Given the description of an element on the screen output the (x, y) to click on. 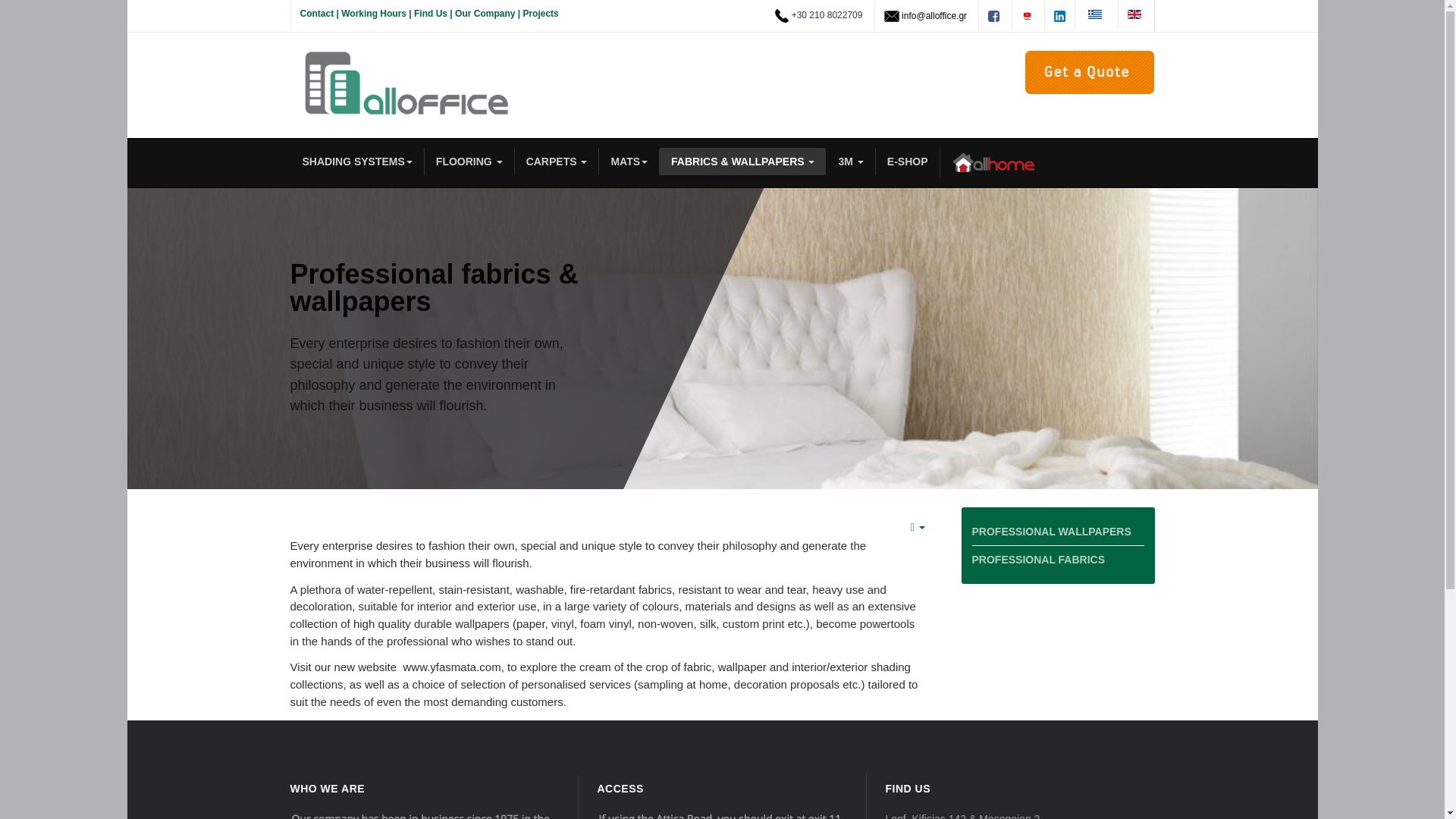
Greek el-GR (1094, 13)
Find Us (429, 13)
Projects (539, 13)
Working Hours (373, 13)
Our Company (484, 13)
Contact (316, 13)
